Given the description of an element on the screen output the (x, y) to click on. 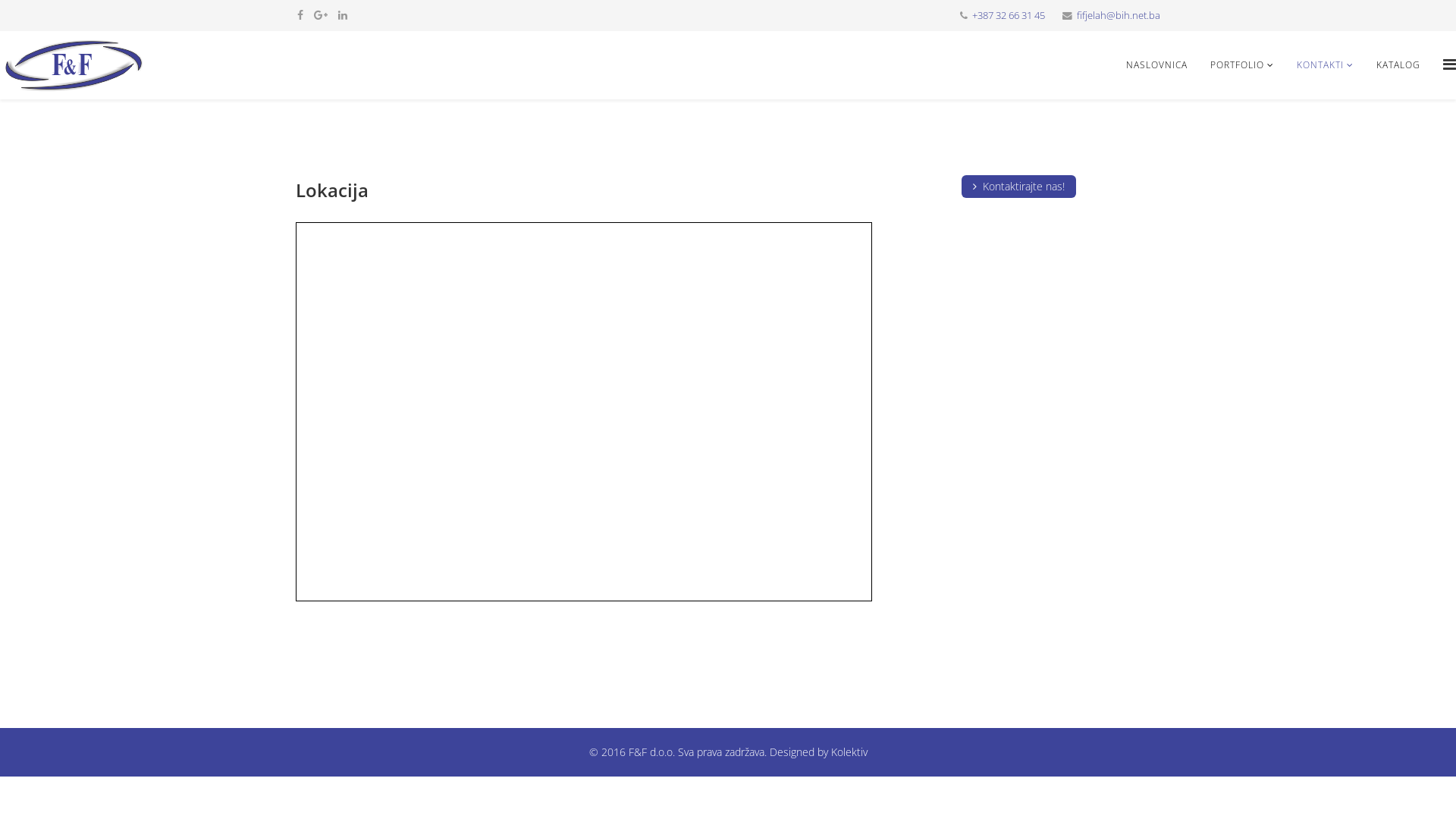
KATALOG Element type: text (1398, 65)
NASLOVNICA Element type: text (1156, 65)
fifjelah@bih.net.ba Element type: text (1118, 15)
+387 32 66 31 45 Element type: text (1008, 15)
PORTFOLIO Element type: text (1241, 65)
Kontaktirajte nas! Element type: text (1018, 186)
KONTAKTI Element type: text (1325, 65)
